Given the description of an element on the screen output the (x, y) to click on. 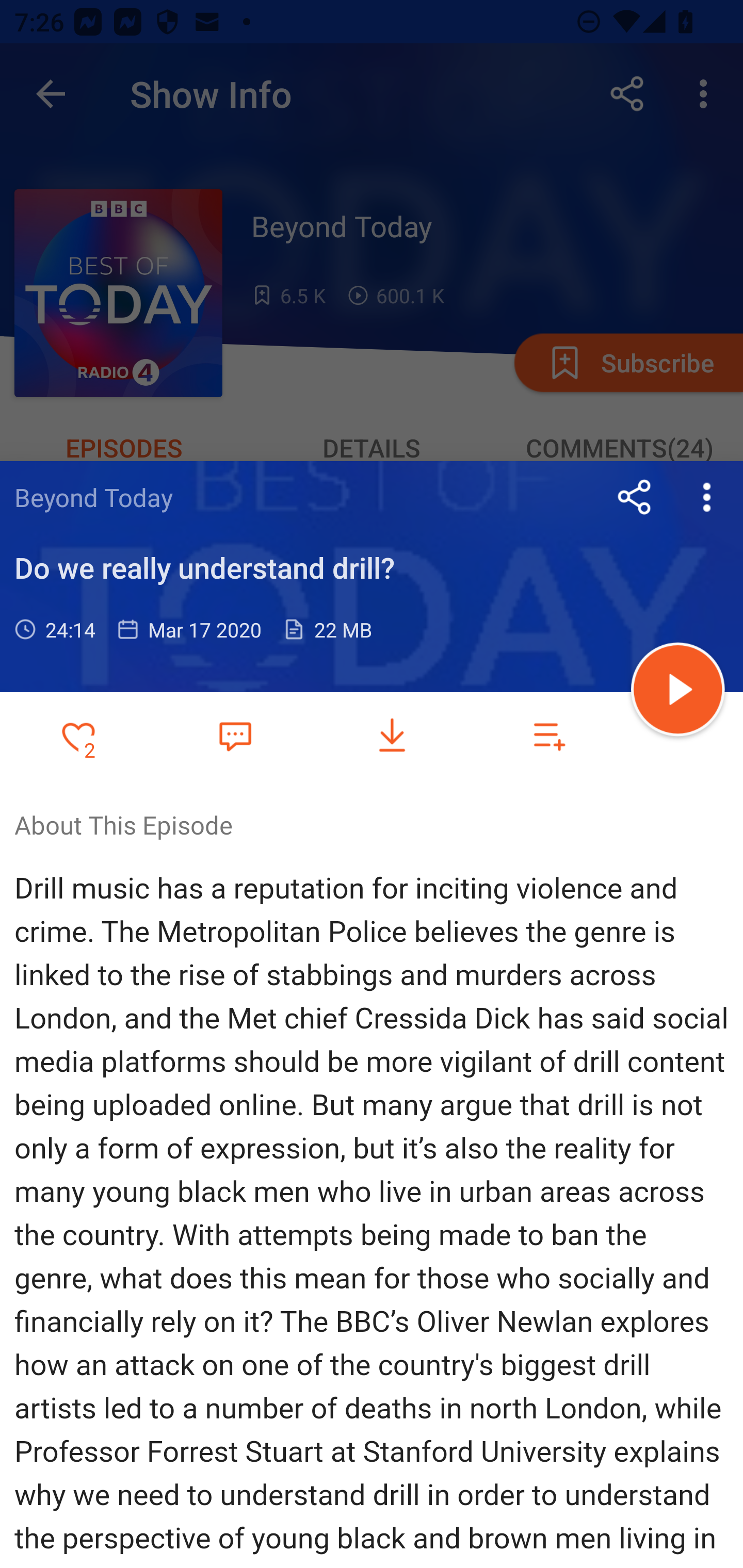
Share (634, 496)
more options (706, 496)
Play (677, 692)
Favorite (234, 735)
Add to Favorites (78, 735)
Download (391, 735)
Add to playlist (548, 735)
